Given the description of an element on the screen output the (x, y) to click on. 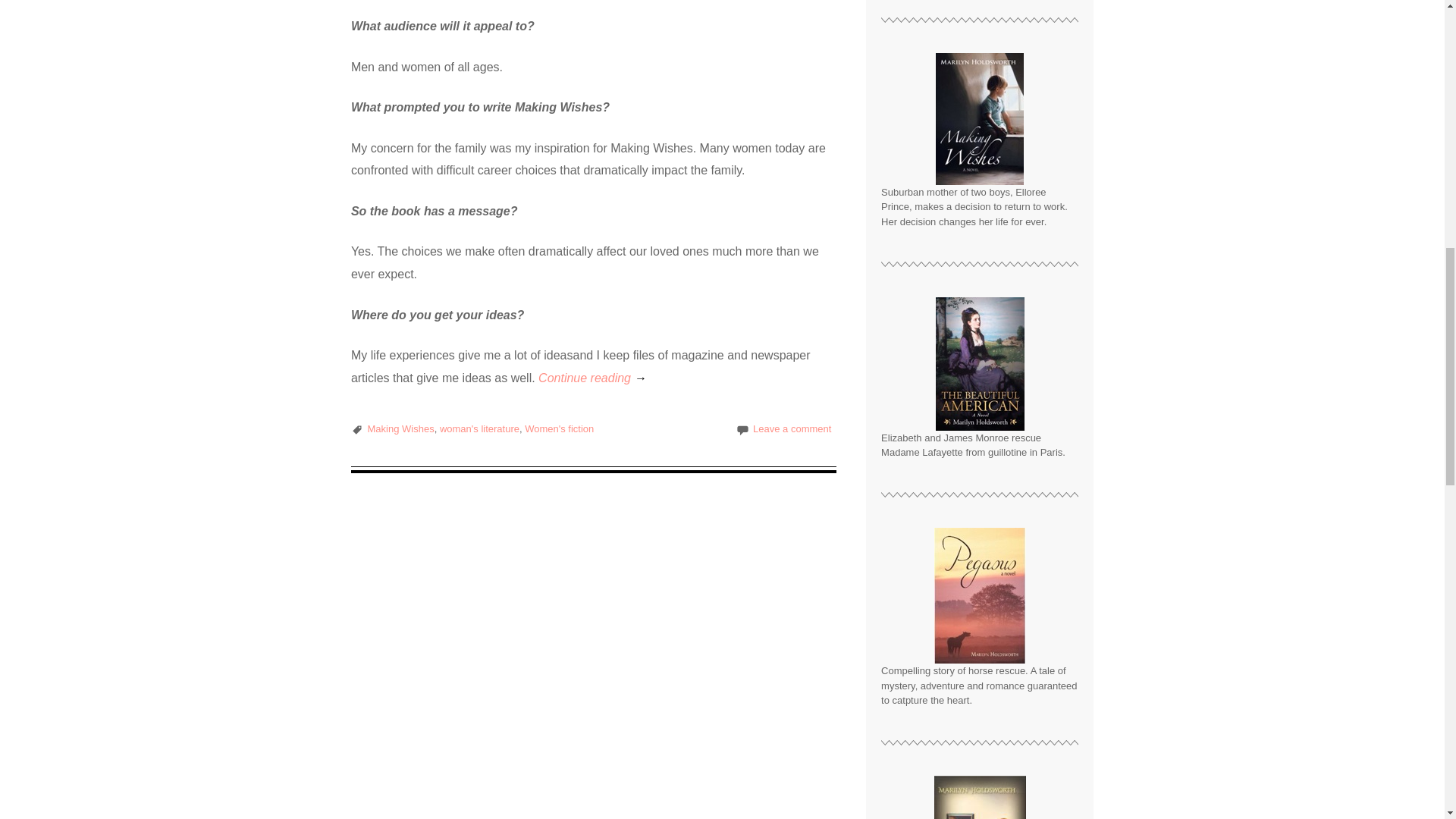
Leave a comment (791, 428)
Making Wishes (400, 428)
Women's fiction (559, 428)
woman's literature (479, 428)
